Given the description of an element on the screen output the (x, y) to click on. 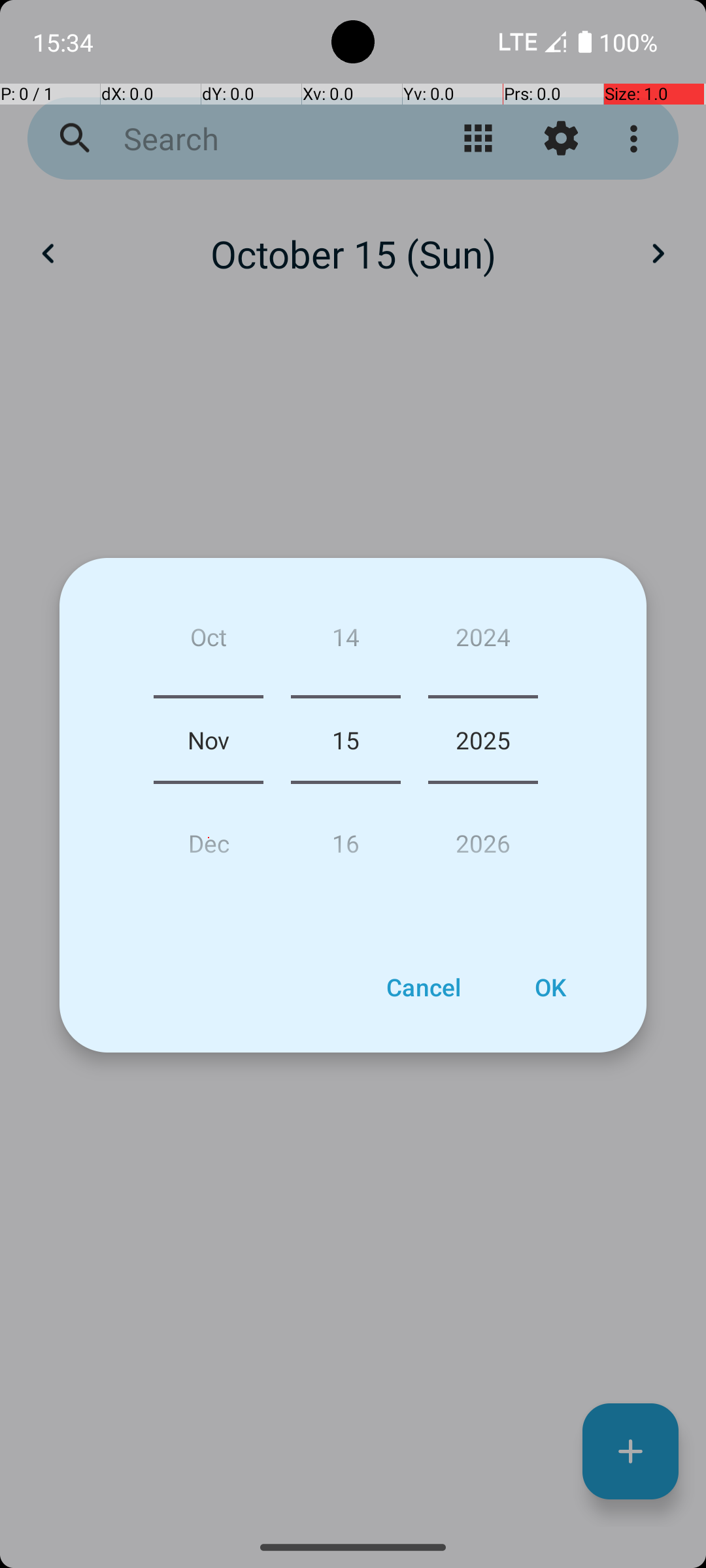
Dec Element type: android.widget.Button (208, 837)
2026 Element type: android.widget.Button (482, 837)
